Given the description of an element on the screen output the (x, y) to click on. 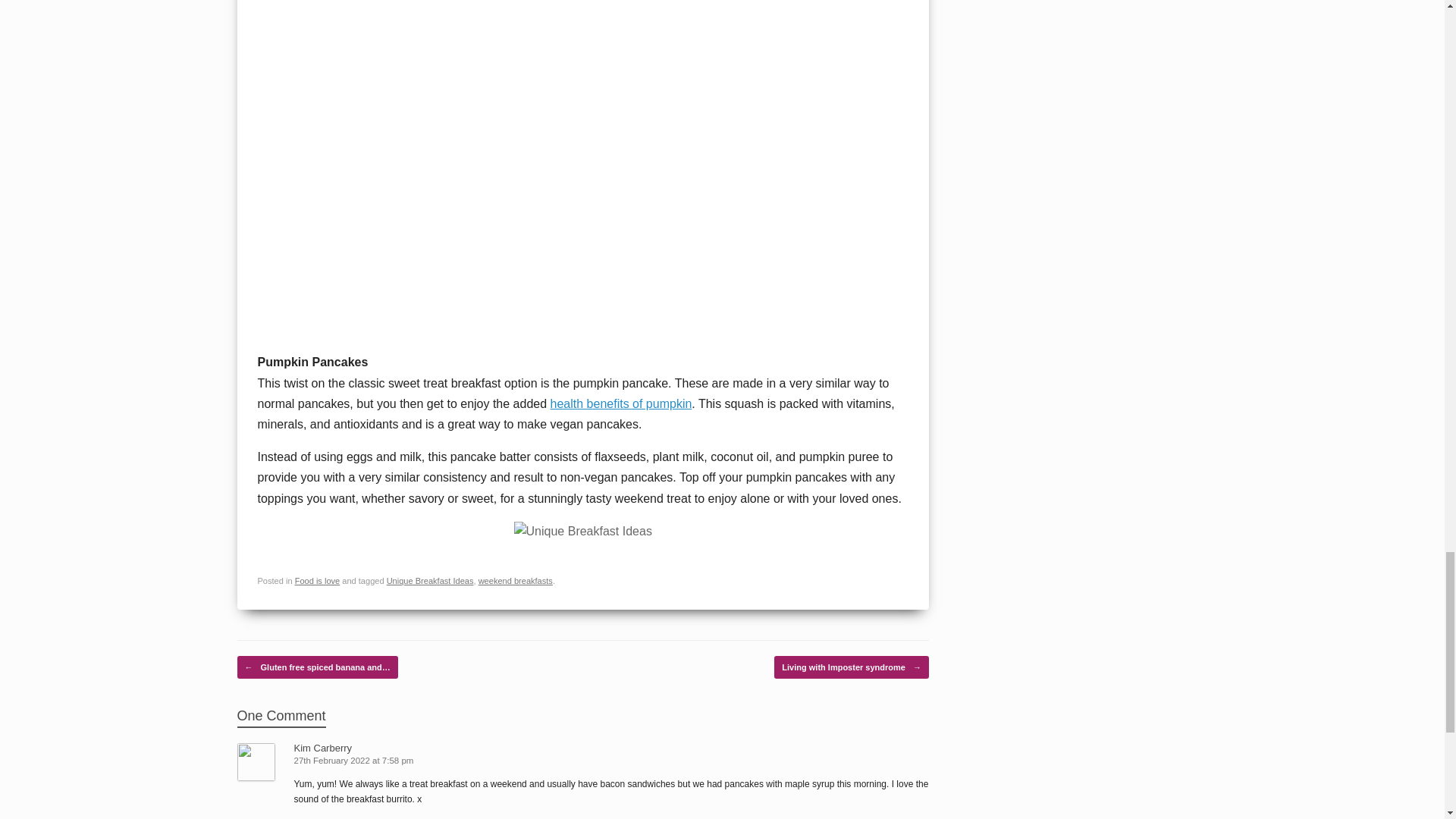
weekend breakfasts (516, 580)
Food is love (317, 580)
Unique Breakfast Ideas (430, 580)
health benefits of pumpkin (621, 403)
Kim Carberry (323, 747)
27th February 2022 at 7:58 pm (355, 759)
